Given the description of an element on the screen output the (x, y) to click on. 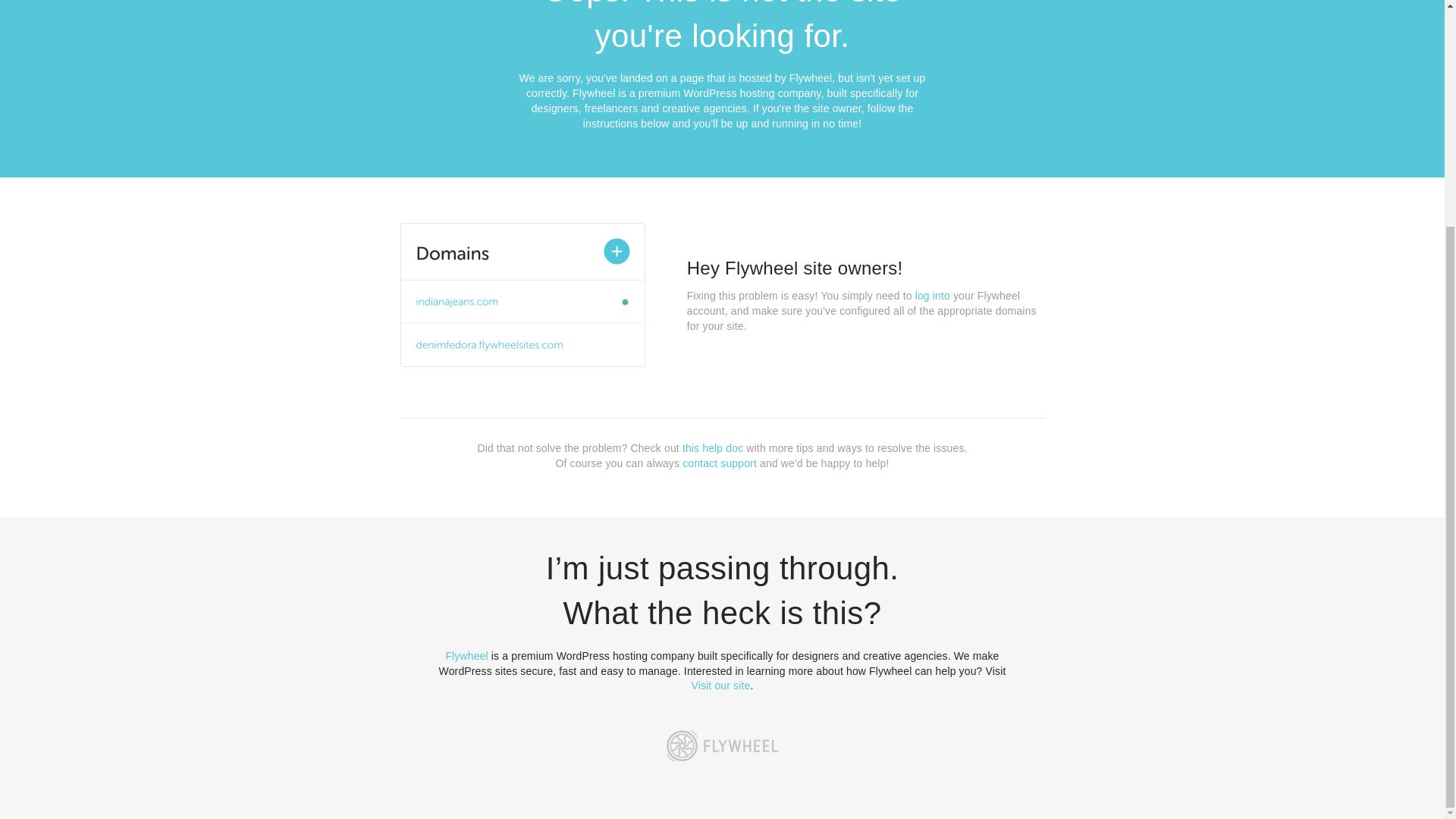
this help doc (712, 448)
contact support (719, 463)
Visit our site (721, 685)
log into (932, 295)
Flywheel (466, 655)
